Given the description of an element on the screen output the (x, y) to click on. 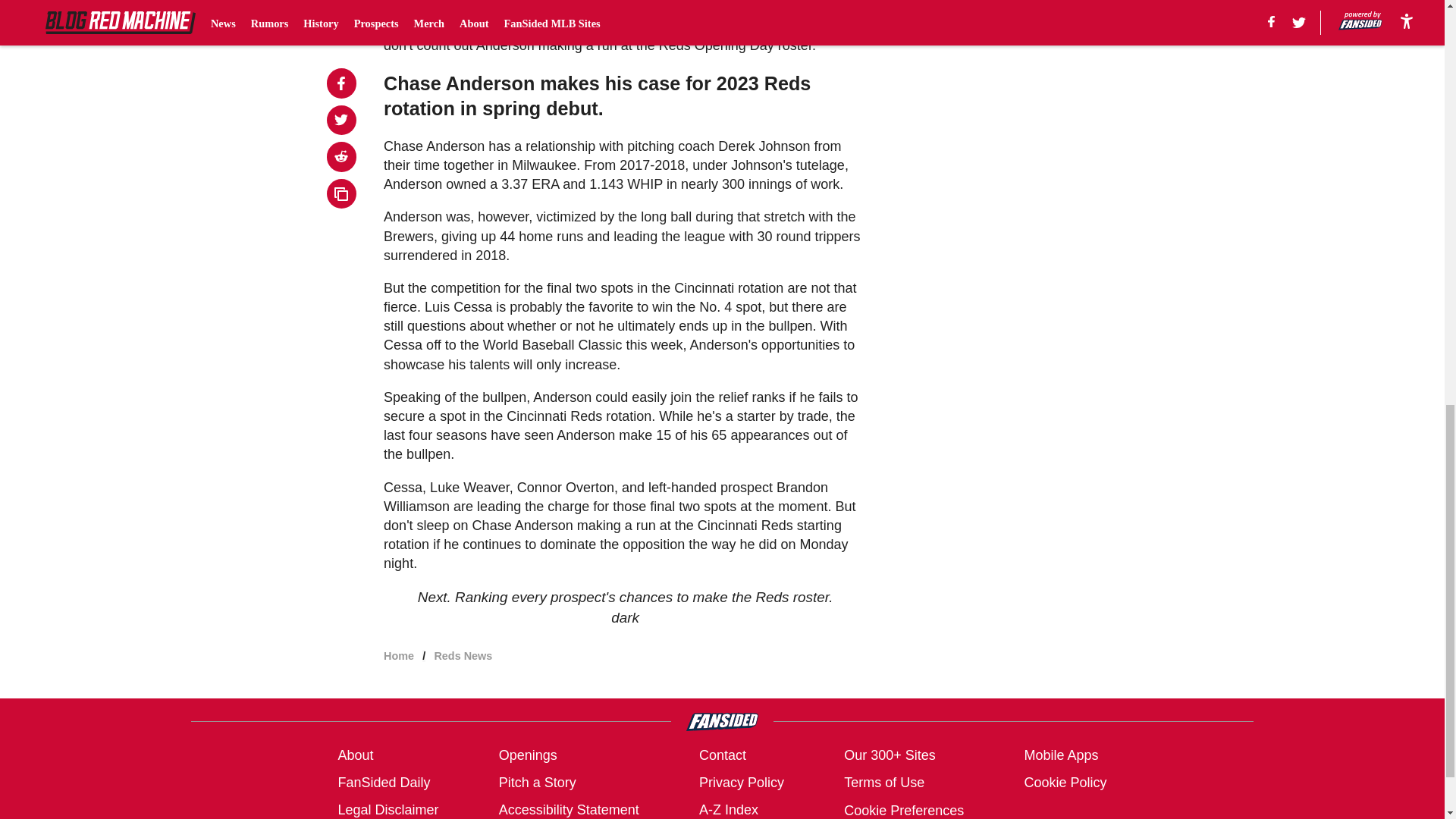
FanSided Daily (383, 782)
Reds News (462, 655)
Pitch a Story (537, 782)
About (354, 754)
Mobile Apps (1060, 754)
Privacy Policy (741, 782)
Openings (528, 754)
Home (398, 655)
Contact (721, 754)
